Given the description of an element on the screen output the (x, y) to click on. 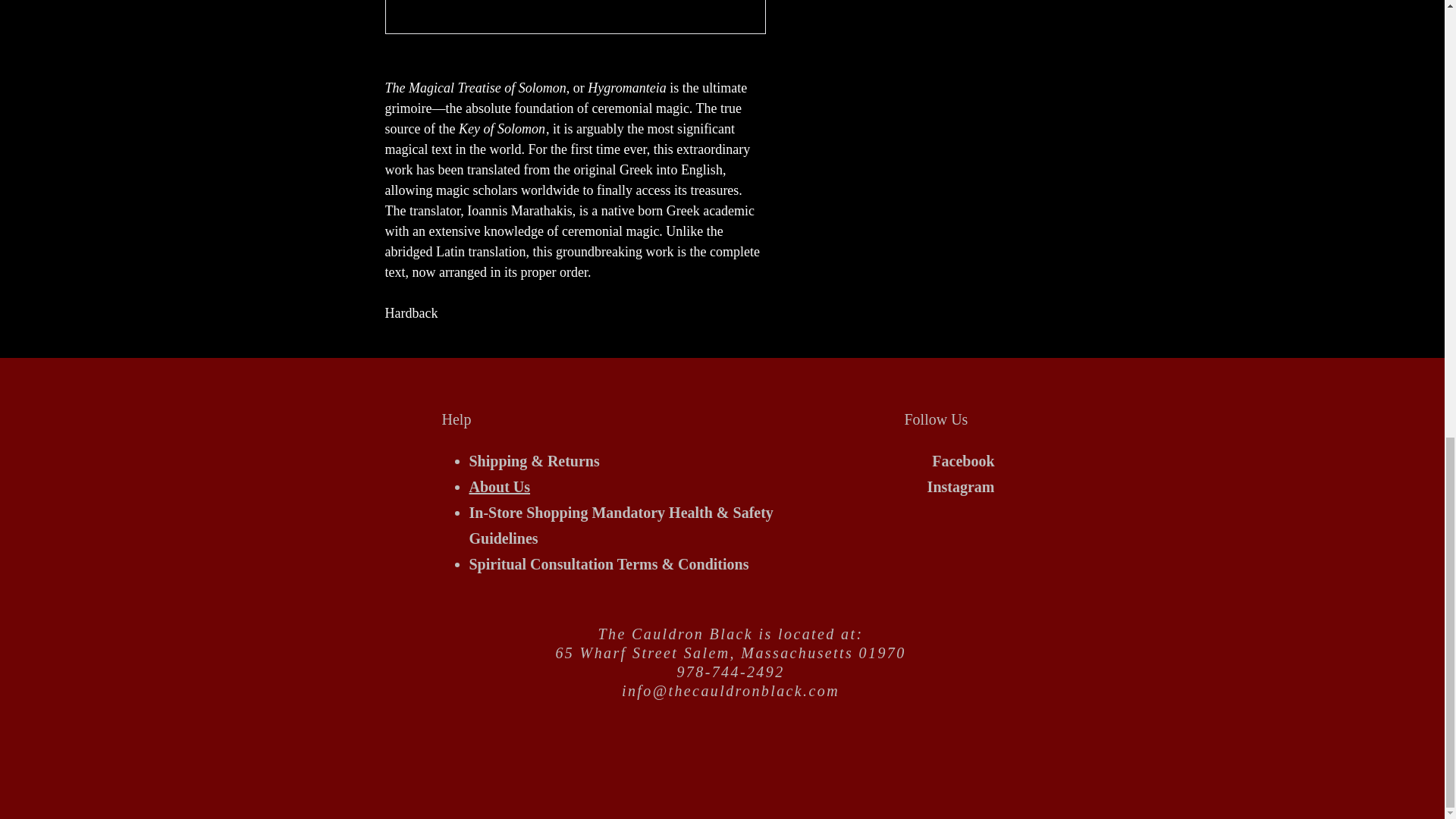
Instagram (960, 486)
Facebook (962, 460)
About Us (498, 486)
